Given the description of an element on the screen output the (x, y) to click on. 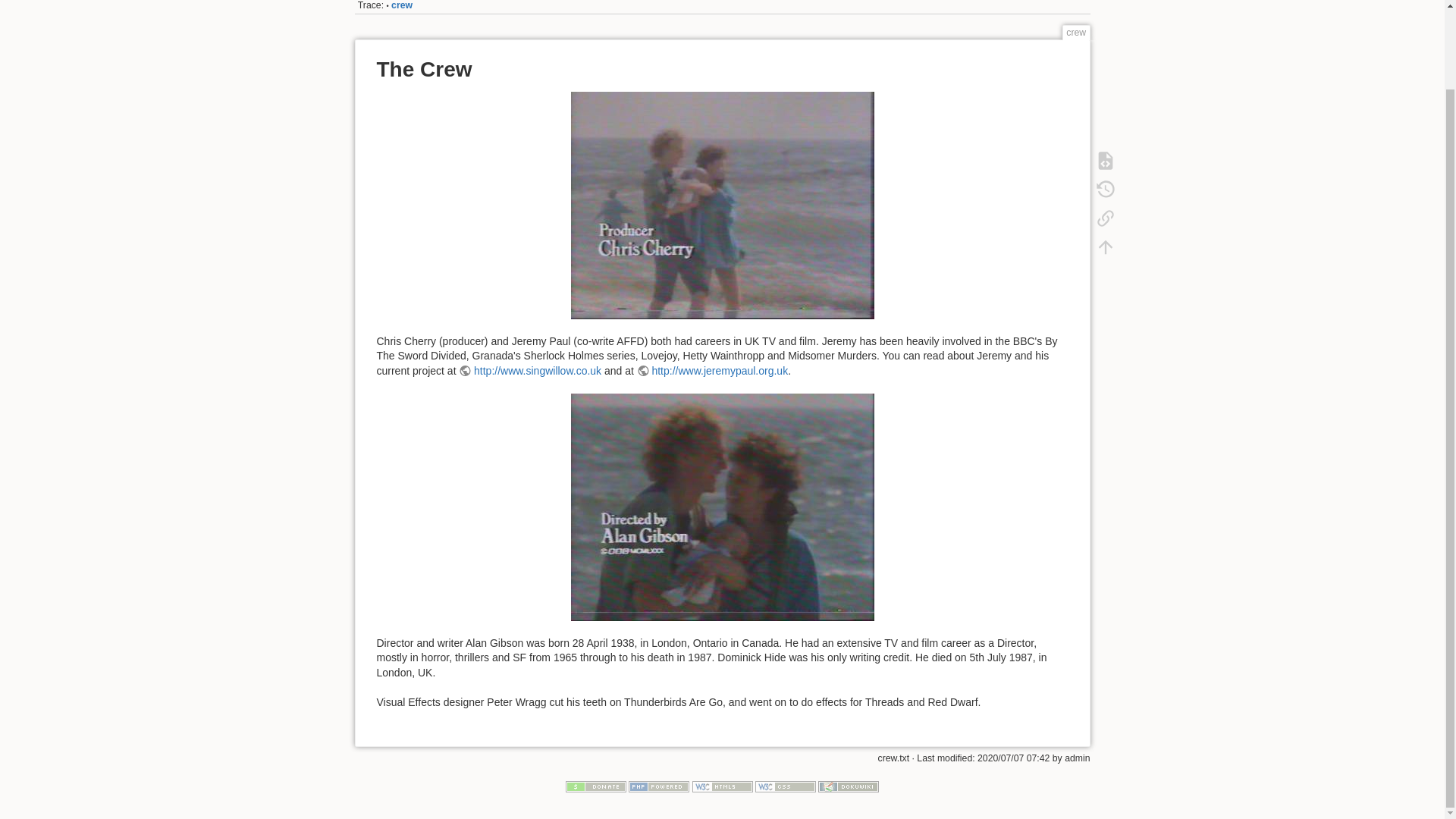
crew (401, 5)
crew (401, 5)
